Given the description of an element on the screen output the (x, y) to click on. 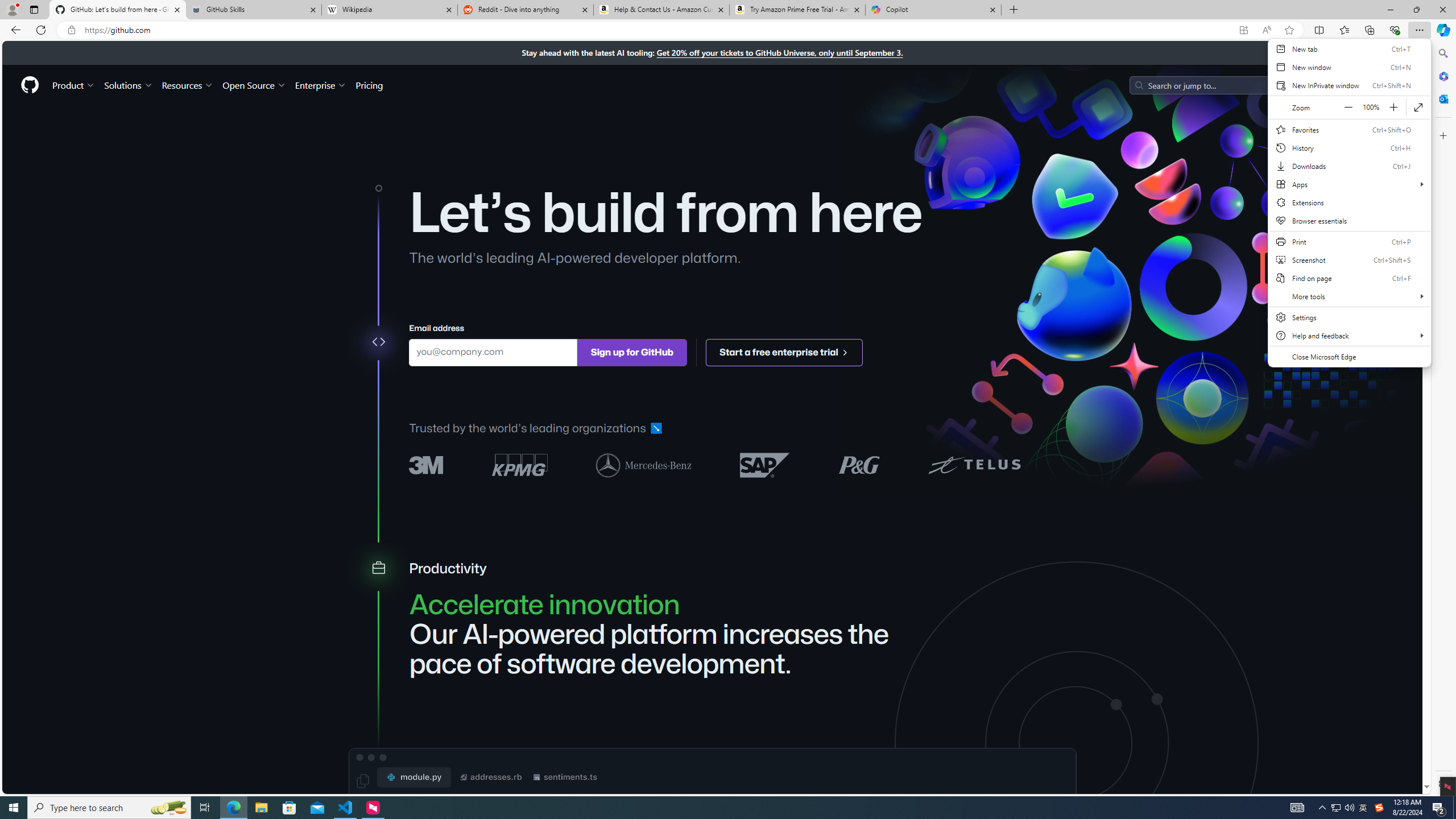
More tools (1349, 296)
Product (74, 84)
Telus logo (973, 464)
Class: octicon arrow-symbol-mktg (845, 352)
Zoom out (Ctrl+Minus key) (1347, 107)
Email address (492, 352)
Copilot (933, 9)
Enterprise (319, 84)
Sign in (1336, 84)
P&G logo (858, 464)
